Given the description of an element on the screen output the (x, y) to click on. 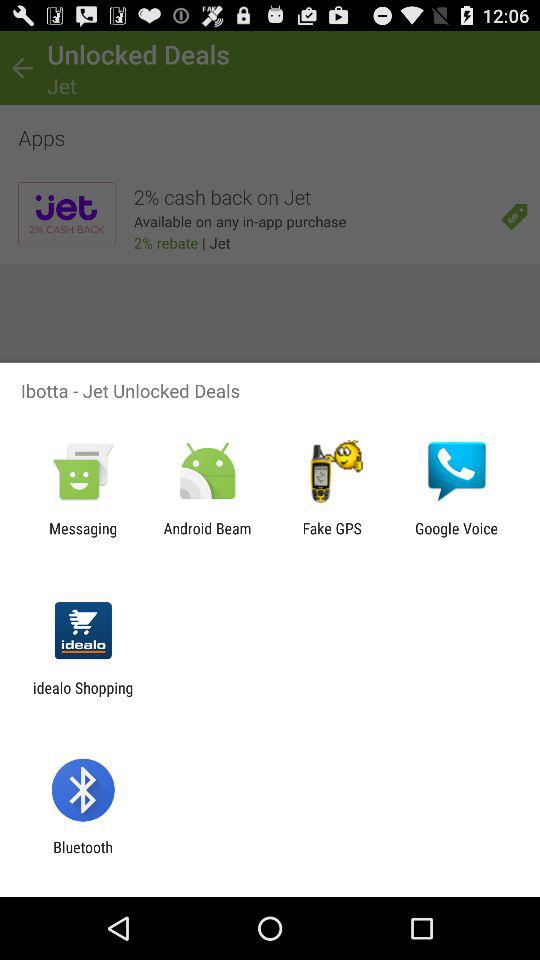
jump to google voice icon (456, 537)
